Given the description of an element on the screen output the (x, y) to click on. 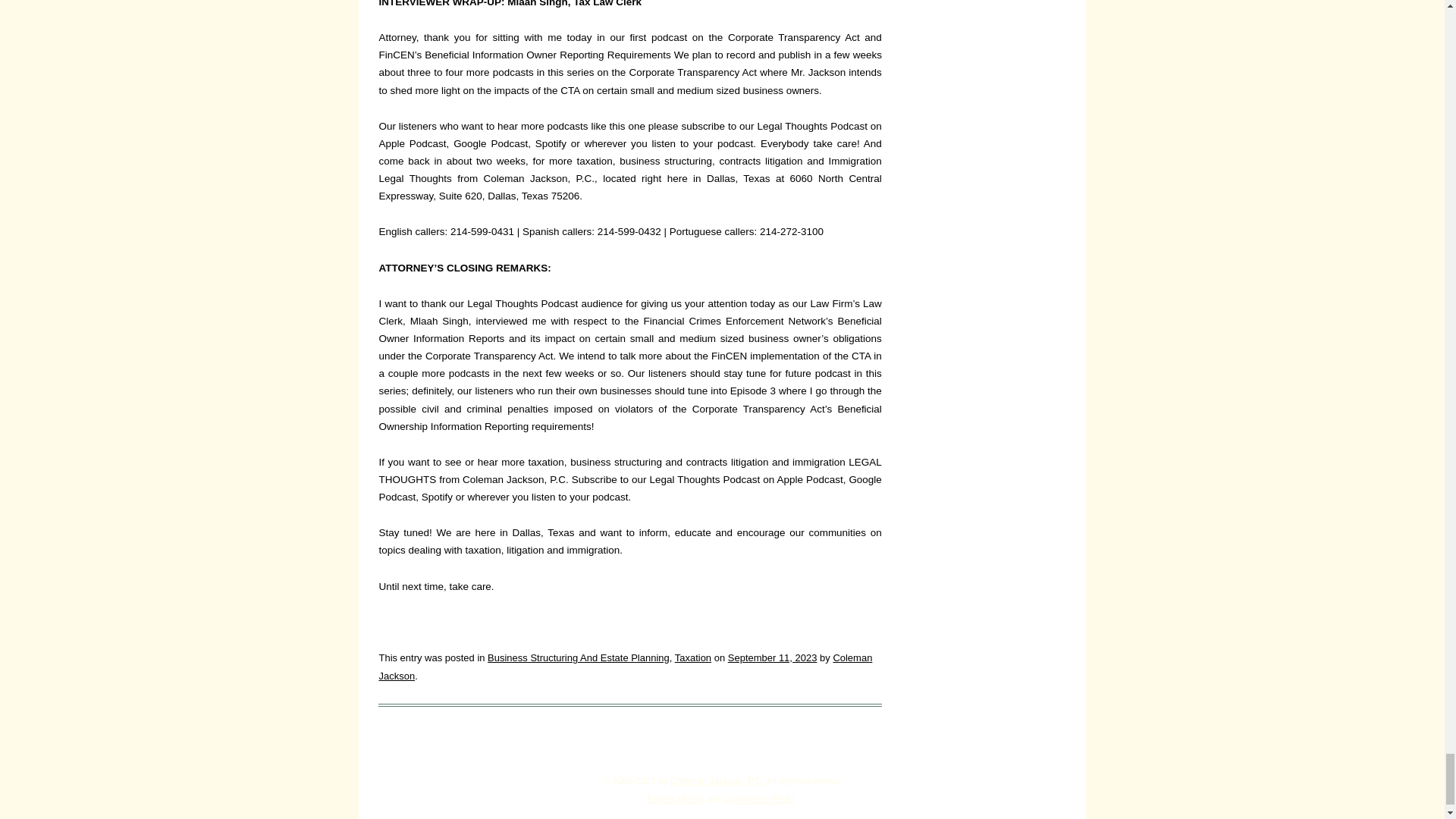
Coleman Jackson (625, 666)
September 11, 2023 (772, 657)
Business Structuring And Estate Planning (578, 657)
7:09 pm (772, 657)
View all posts by Coleman Jackson (625, 666)
Taxation (693, 657)
